Given the description of an element on the screen output the (x, y) to click on. 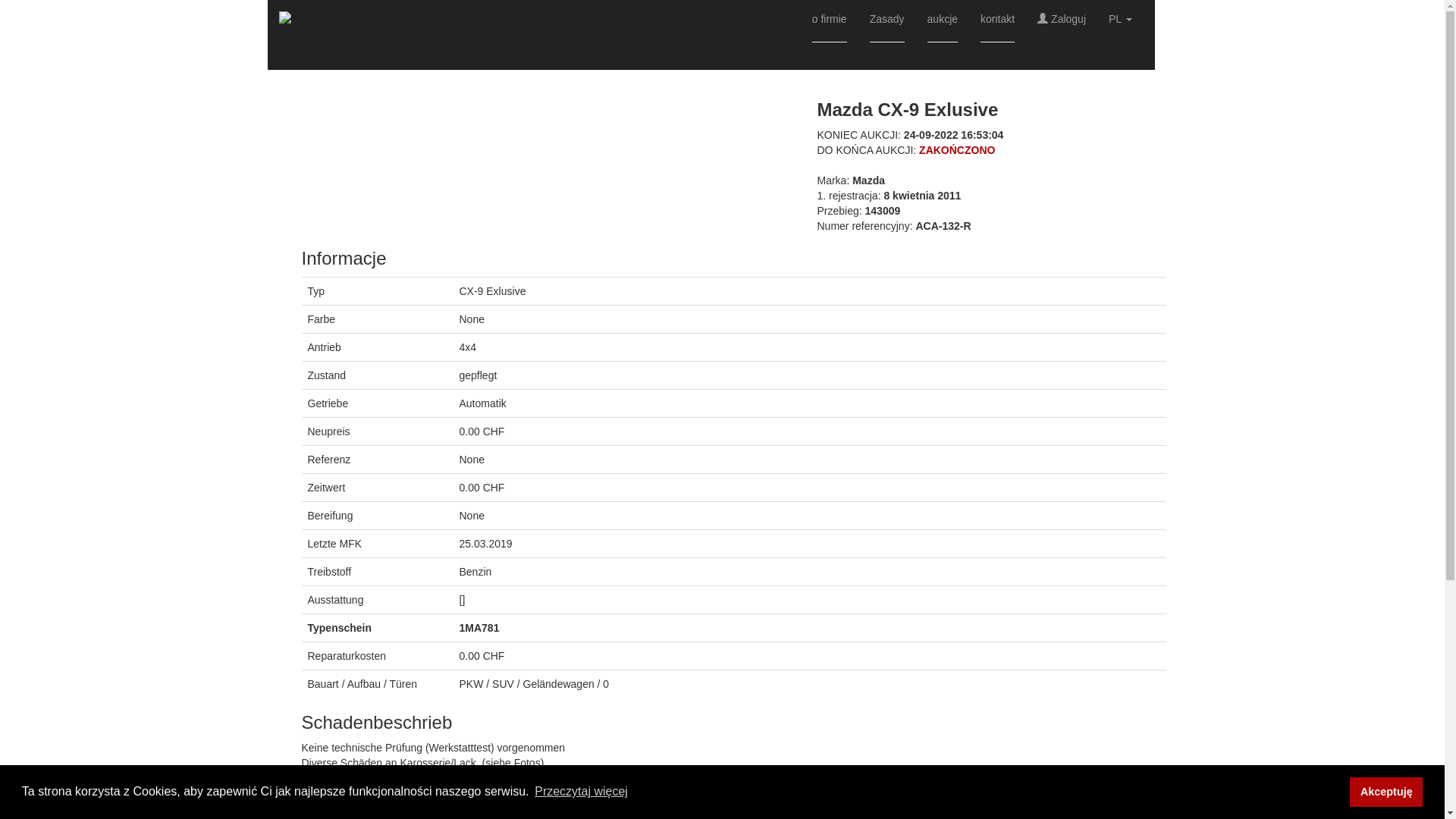
kontakt Element type: text (997, 34)
Zaloguj Element type: text (1061, 18)
o firmie Element type: text (829, 34)
PL Element type: text (1120, 18)
aukcje Element type: text (942, 34)
Zasady Element type: text (887, 34)
